Given the description of an element on the screen output the (x, y) to click on. 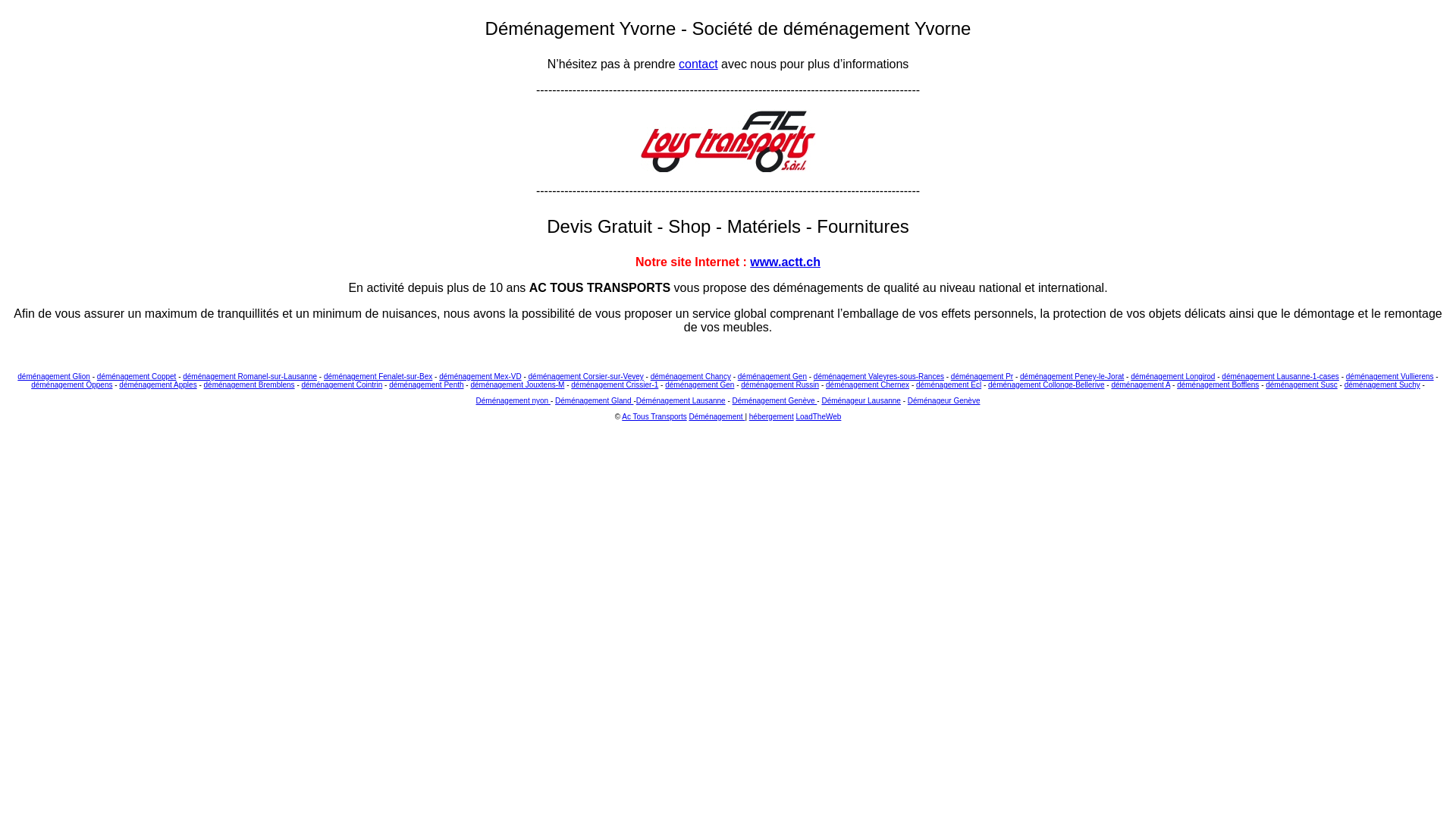
www.actt.ch Element type: text (784, 261)
LoadTheWeb Element type: text (818, 416)
AC TOUS TRANSPORTS Element type: text (599, 287)
Ac Tous Transports Element type: text (653, 416)
contact Element type: text (698, 63)
